Given the description of an element on the screen output the (x, y) to click on. 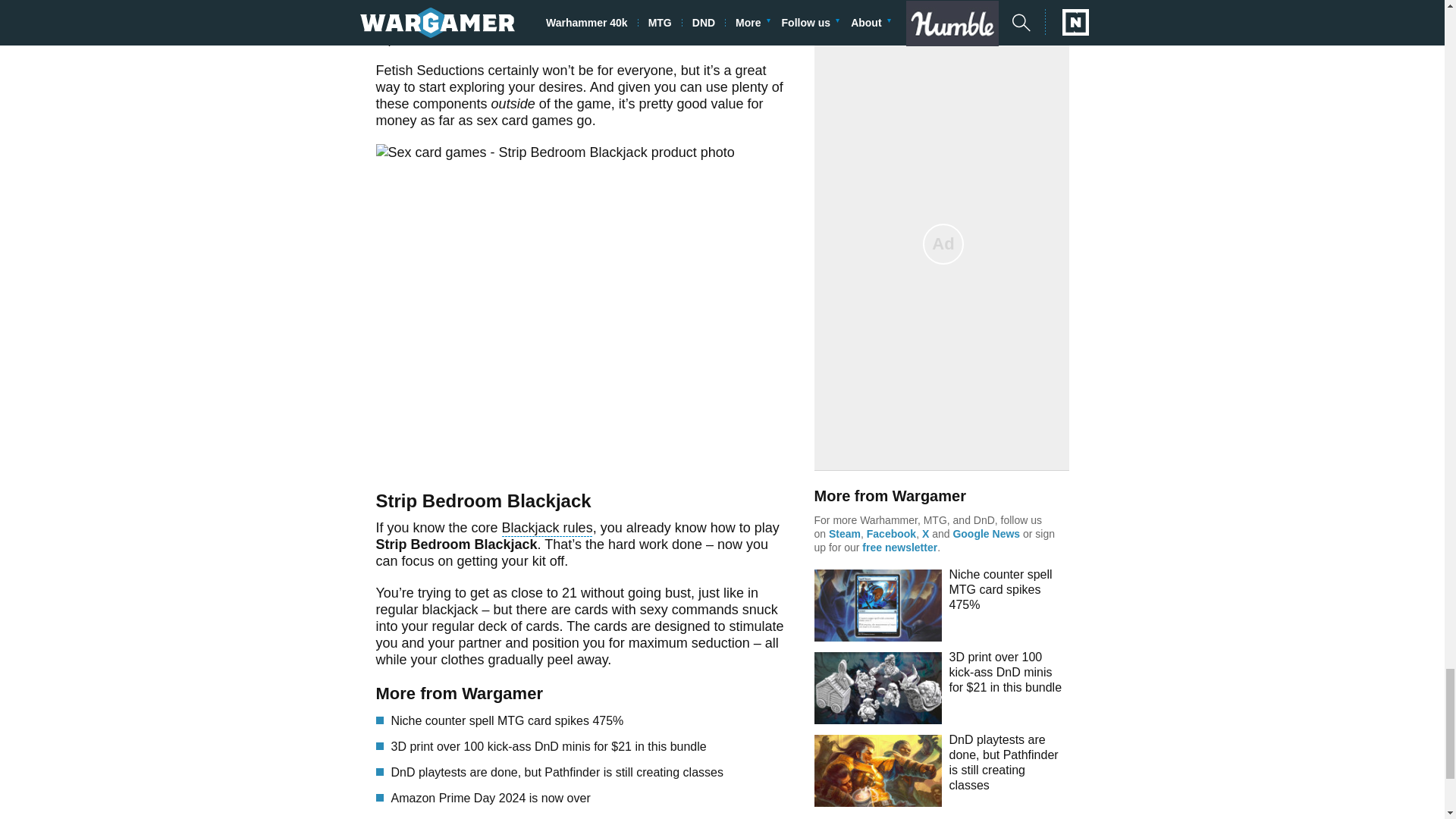
sex-card-games-strip-bedroom-blackjack (584, 304)
Amazon Prime Day 2024 is now over (592, 798)
